Given the description of an element on the screen output the (x, y) to click on. 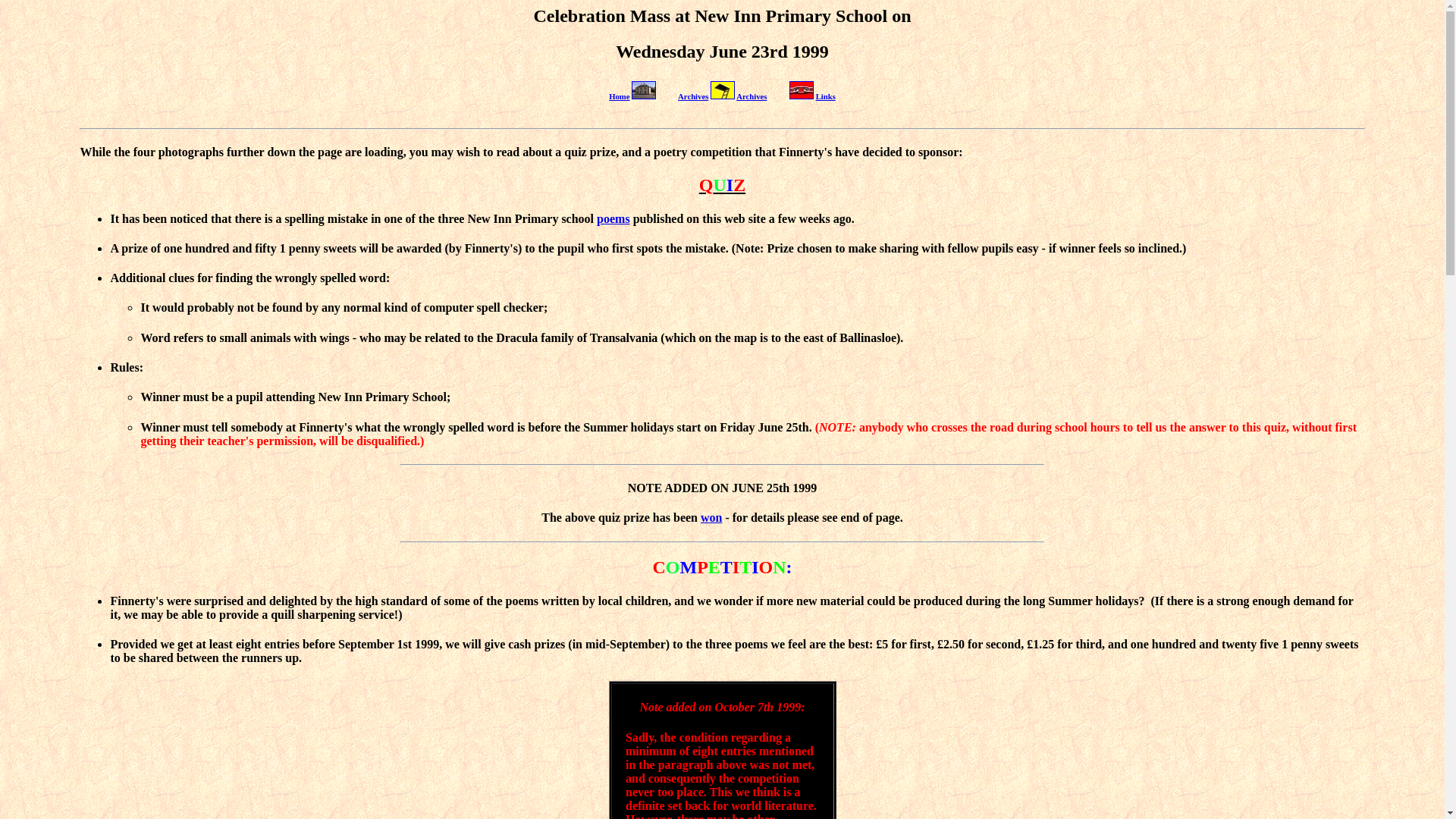
Archives (692, 95)
Archives (751, 95)
Home (618, 95)
poems (613, 218)
Celebration (580, 15)
COMPETITION (719, 567)
QUIZ (721, 184)
won (711, 517)
Links (825, 95)
